Given the description of an element on the screen output the (x, y) to click on. 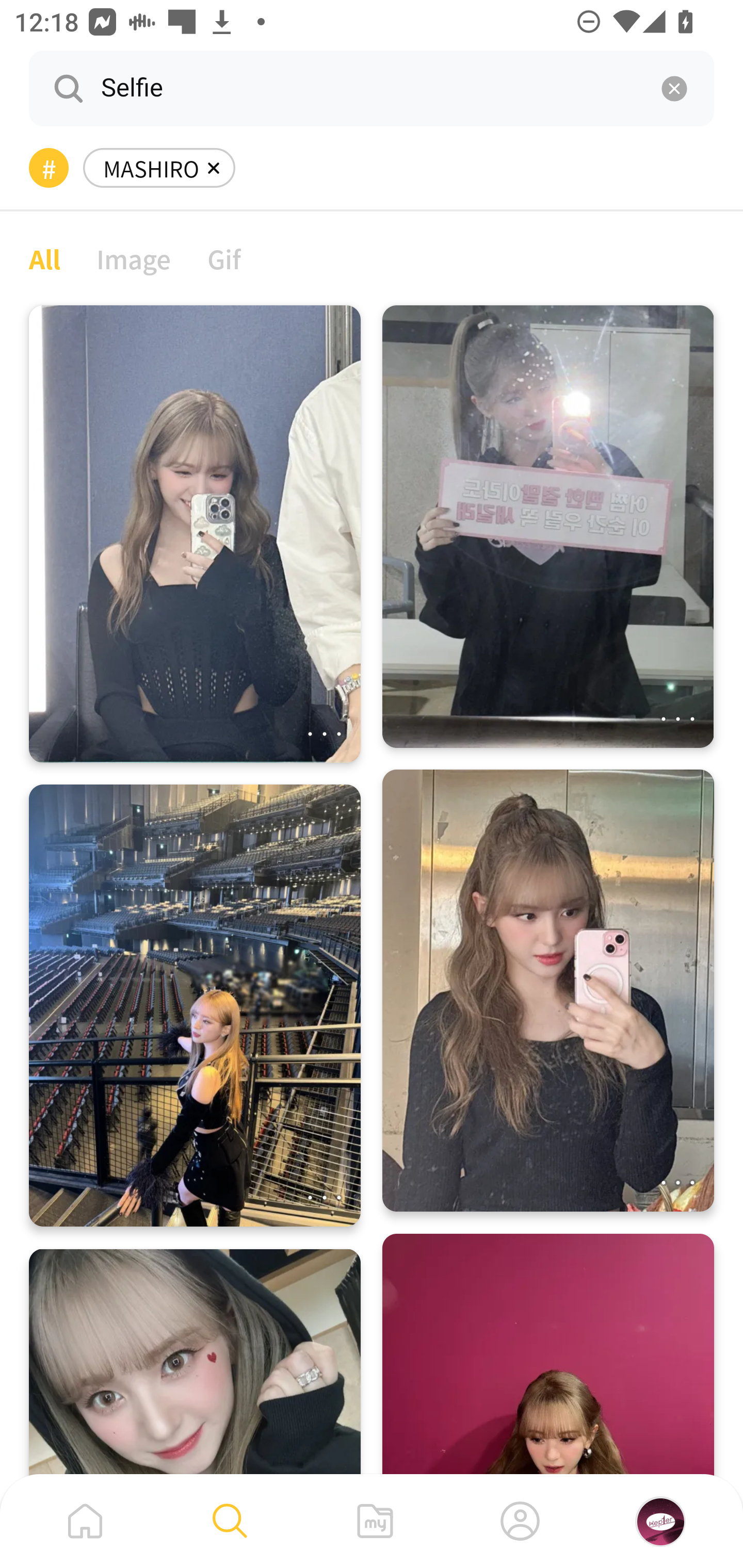
All (44, 257)
Image (133, 257)
Gif (223, 257)
